Given the description of an element on the screen output the (x, y) to click on. 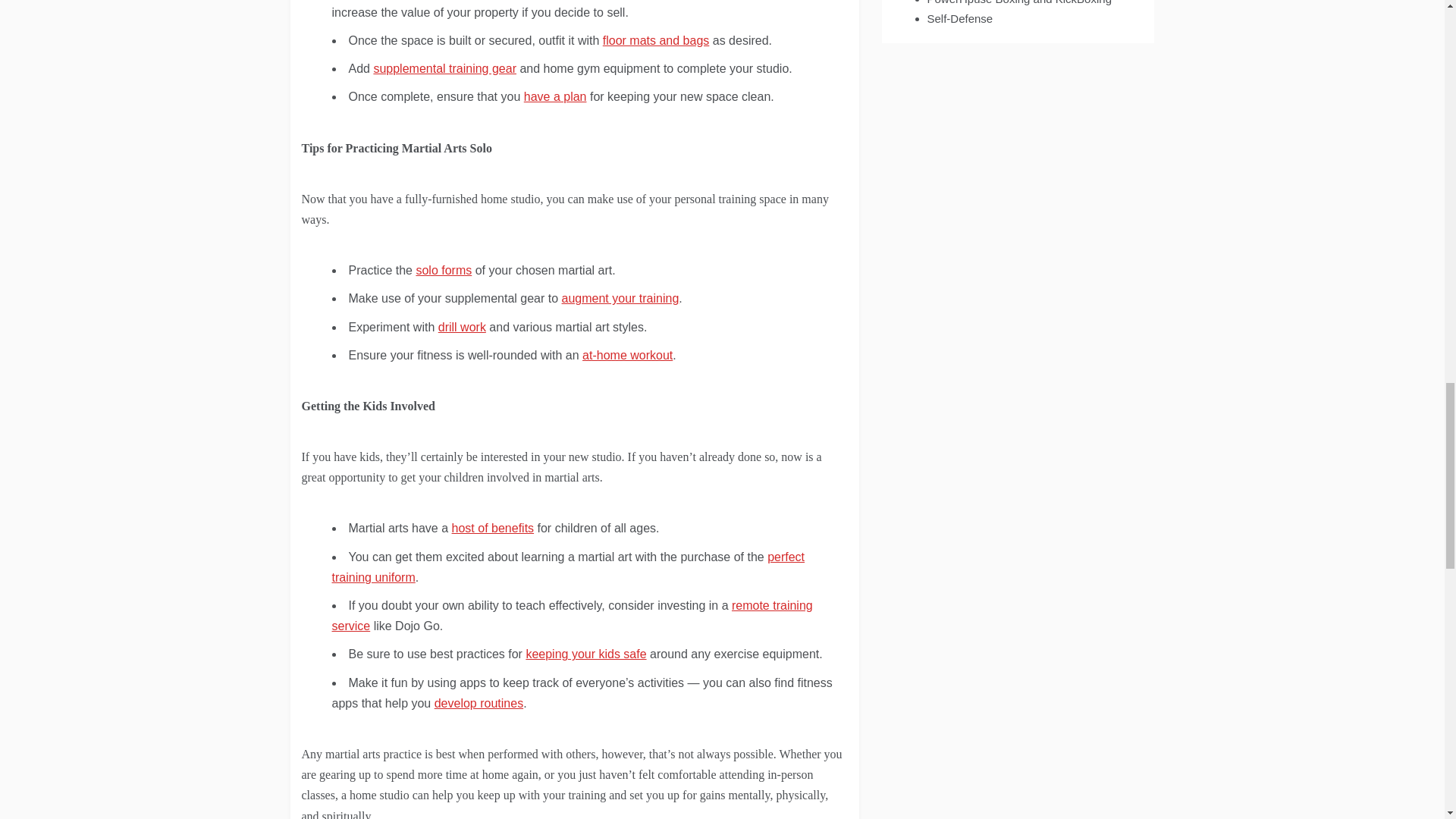
solo forms (442, 269)
host of benefits (492, 527)
have a plan (555, 96)
at-home workout (627, 354)
drill work (462, 326)
keeping your kids safe (585, 653)
augment your training (620, 297)
perfect training uniform (568, 566)
remote training service (571, 615)
supplemental training gear (444, 68)
develop routines (477, 703)
floor mats and bags (656, 40)
